Given the description of an element on the screen output the (x, y) to click on. 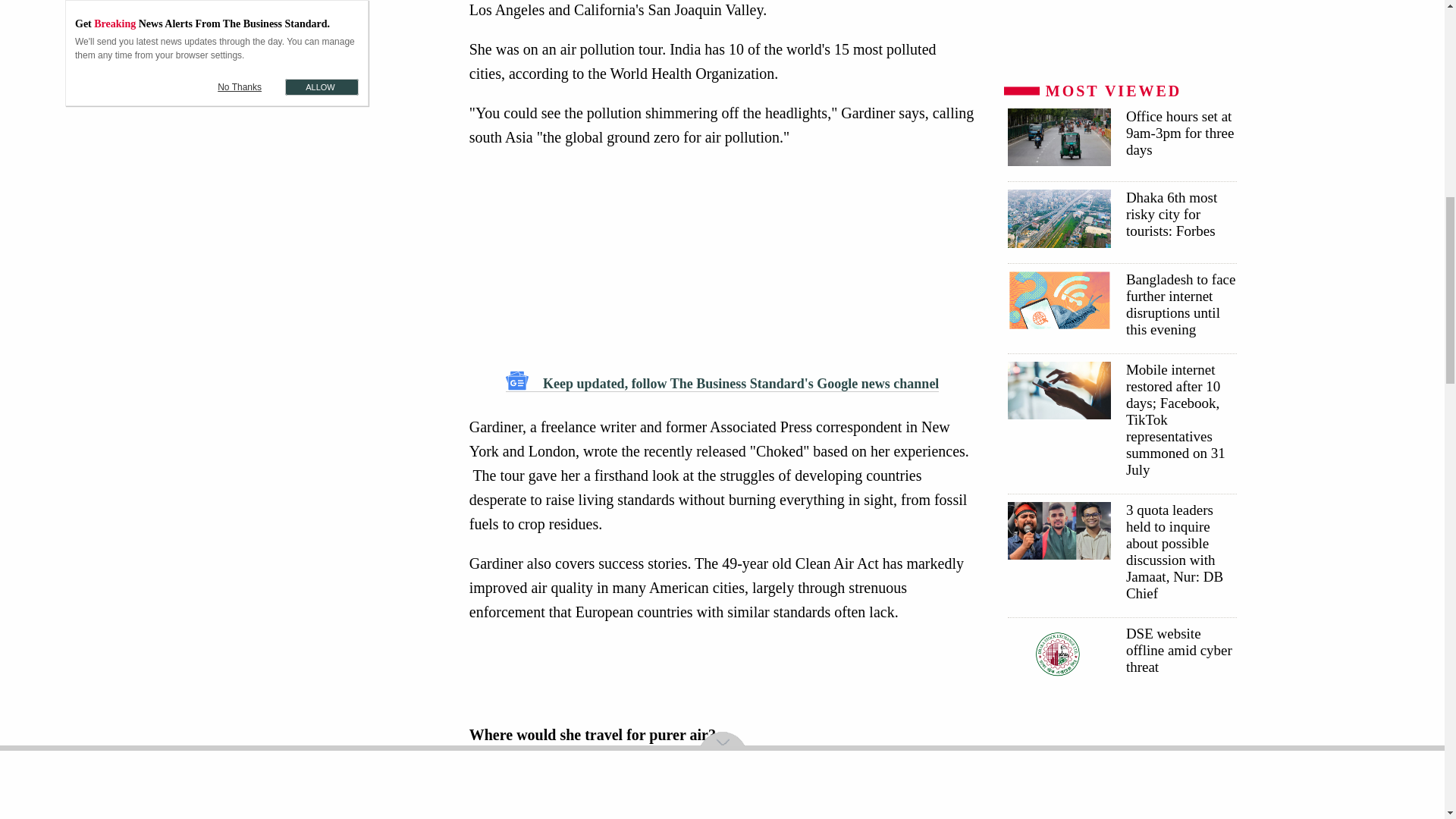
3rd party ad content (324, 49)
3rd party ad content (1120, 33)
3rd party ad content (721, 258)
3rd party ad content (726, 673)
3rd party ad content (324, 208)
